Given the description of an element on the screen output the (x, y) to click on. 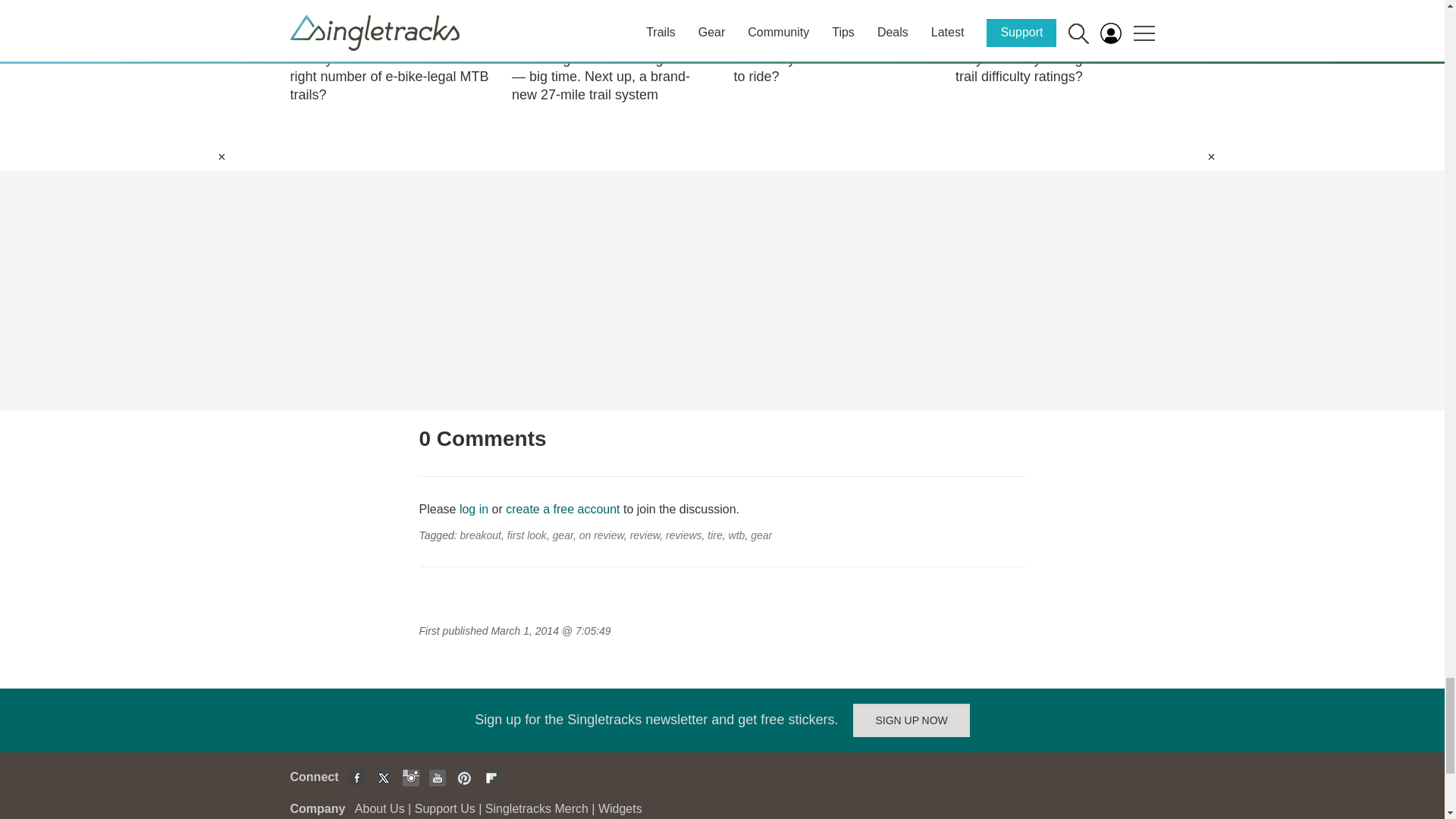
SIGN UP NOW (911, 720)
